Given the description of an element on the screen output the (x, y) to click on. 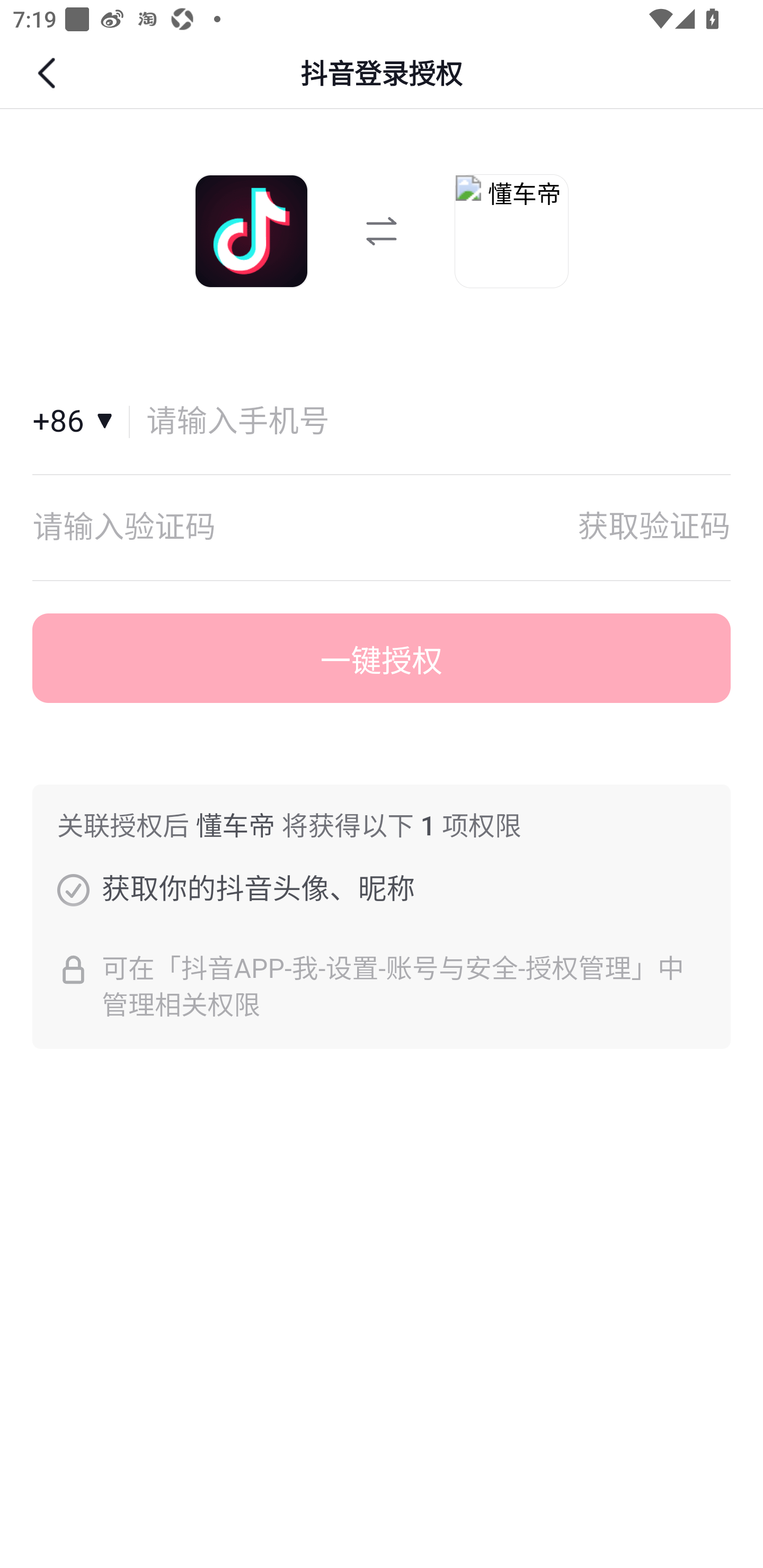
返回 (49, 72)
国家和地区+86 (81, 421)
获取验证码 (653, 526)
一键授权 (381, 658)
获取你的抖音头像、昵称 (72, 889)
